Given the description of an element on the screen output the (x, y) to click on. 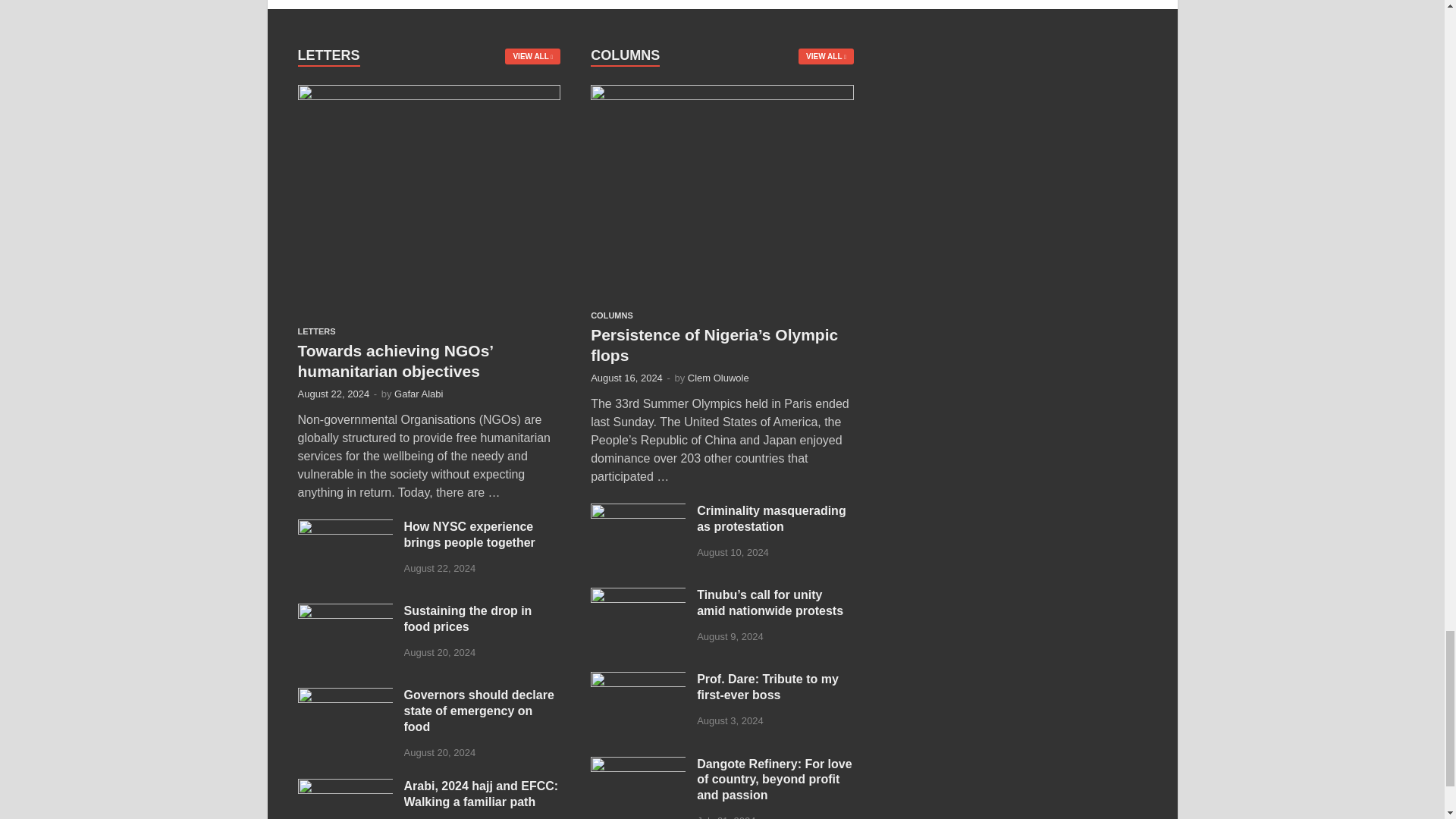
How NYSC experience brings people together (344, 527)
Sustaining the drop in food prices (344, 612)
Arabi, 2024 hajj and EFCC: Walking a familiar path (344, 787)
